Given the description of an element on the screen output the (x, y) to click on. 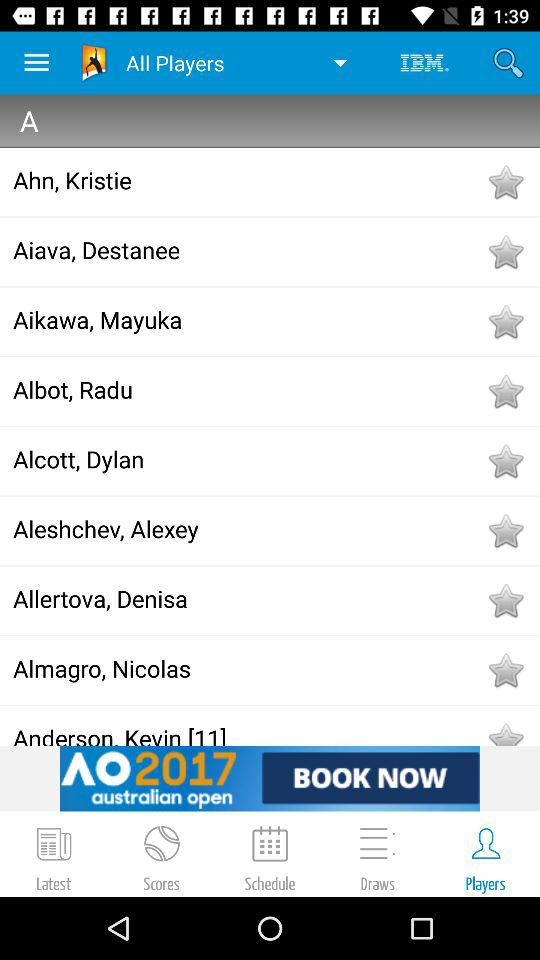
select item above a (508, 62)
